Given the description of an element on the screen output the (x, y) to click on. 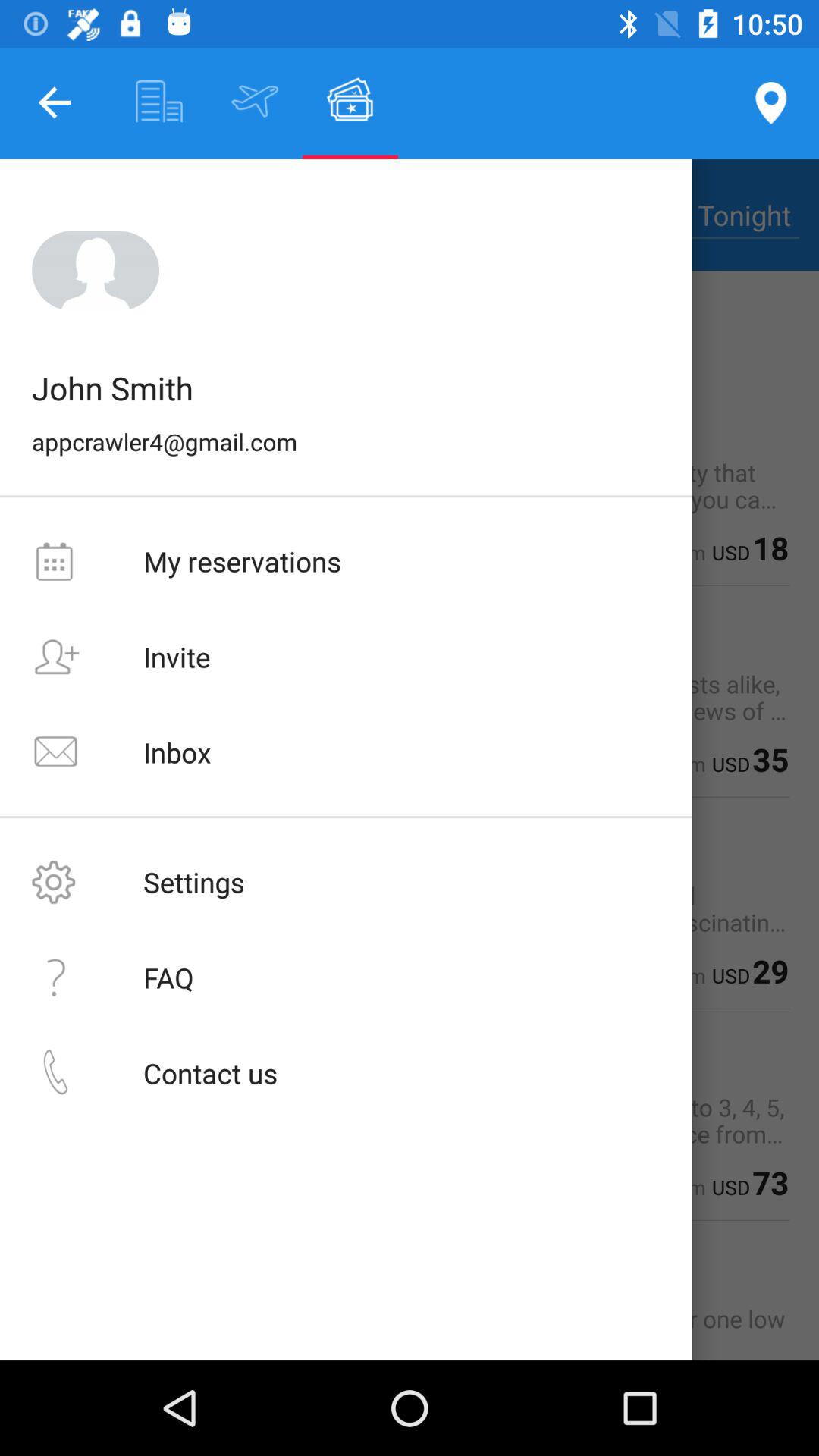
icon left to location icon at the top (350, 101)
click on the location icon at the top right corner of the page (771, 103)
click the icon on the right next to button which is on top left corner of the web page (159, 101)
